Given the description of an element on the screen output the (x, y) to click on. 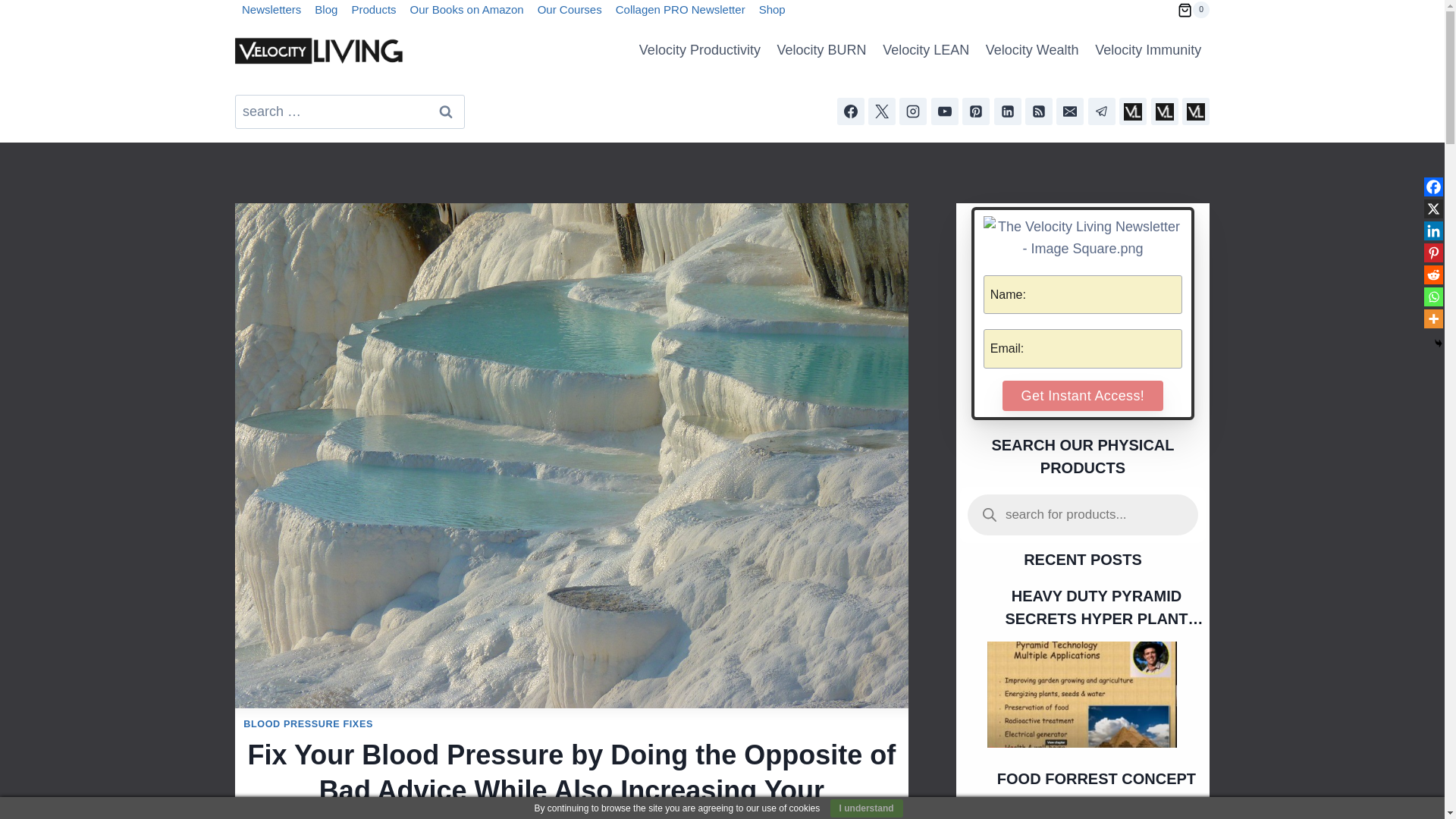
Our Books on Amazon (467, 10)
Pinterest (1432, 252)
Linkedin (1432, 230)
Velocity Immunity (1147, 50)
Newsletters (270, 10)
X (1432, 208)
Whatsapp (1432, 296)
Name: (1083, 294)
Products (373, 10)
Get Instant Access! (1083, 395)
